Given the description of an element on the screen output the (x, y) to click on. 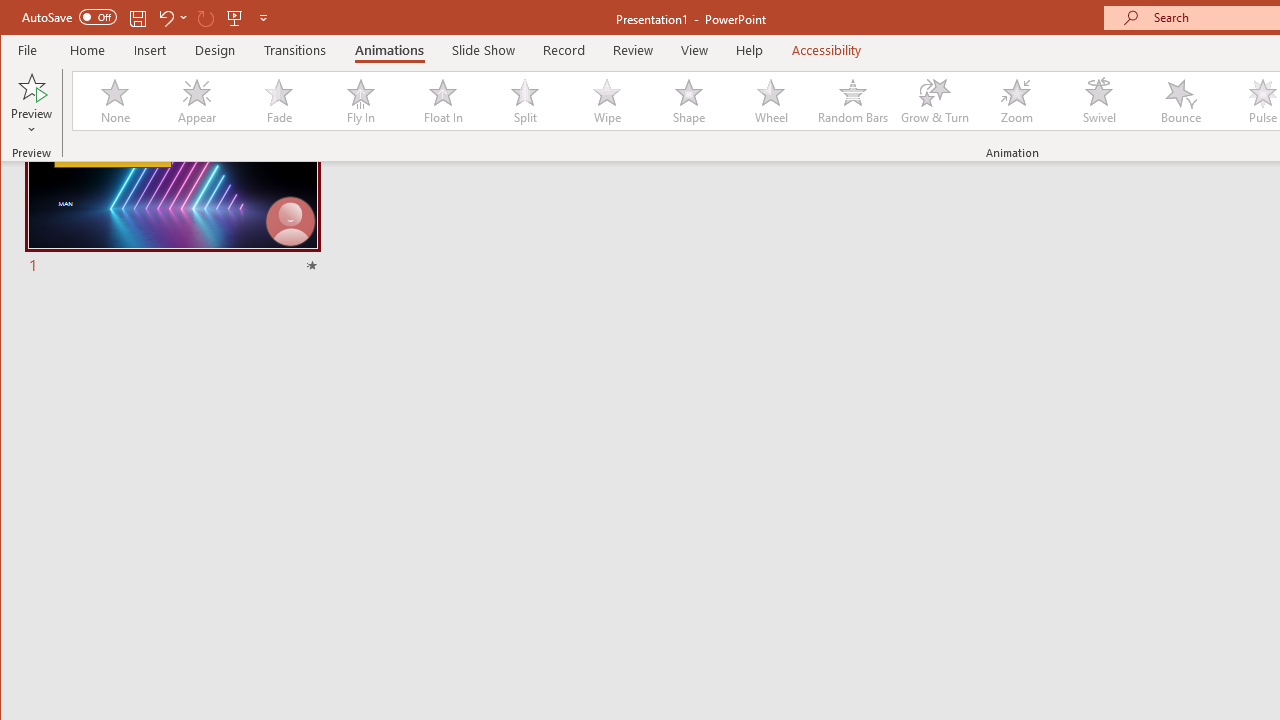
View (694, 50)
Quick Access Toolbar (146, 17)
AutoSave (68, 16)
Accessibility (826, 50)
Help (749, 50)
Review (632, 50)
